Given the description of an element on the screen output the (x, y) to click on. 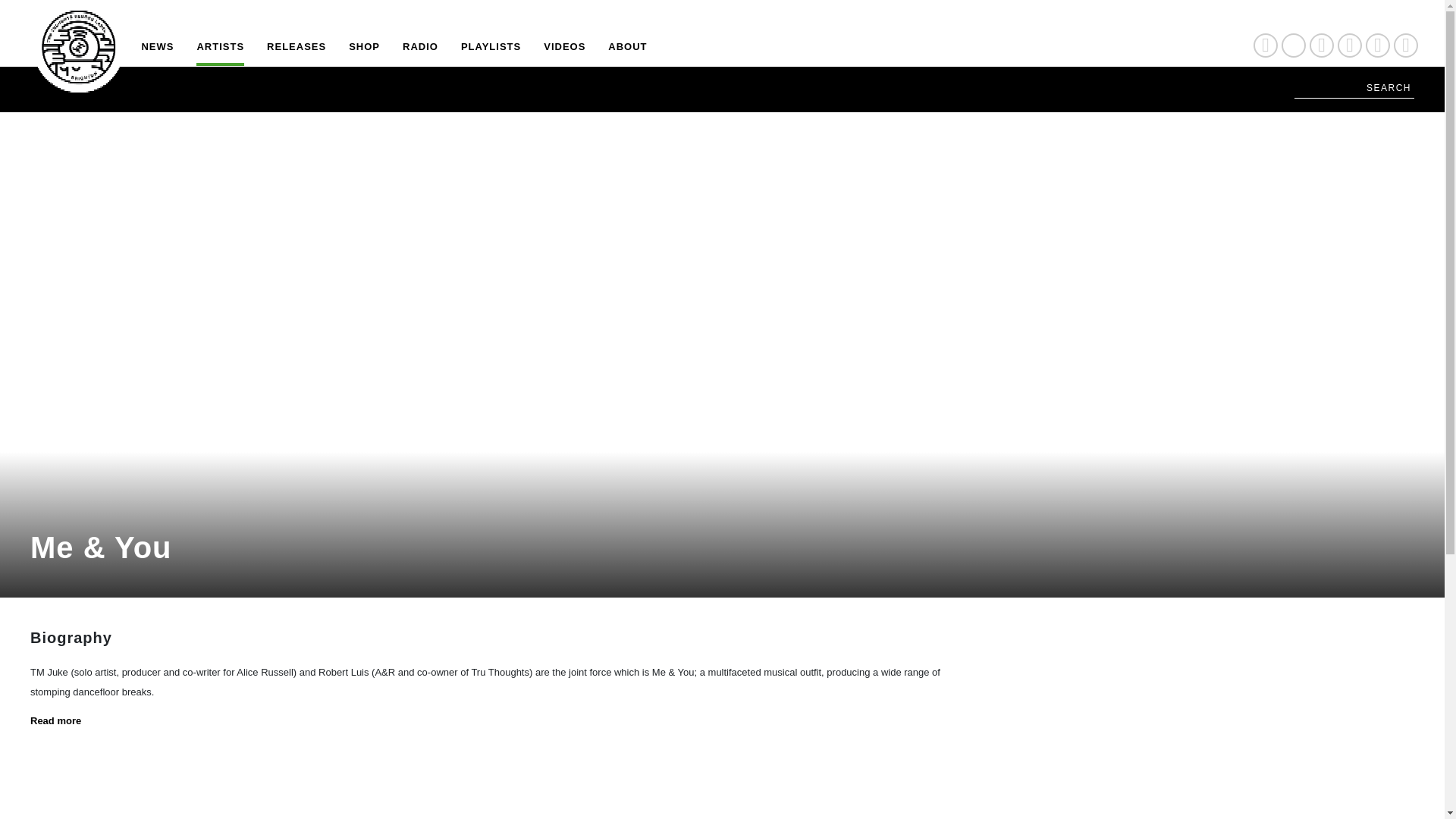
Search (1353, 87)
SHOP (364, 53)
instagram (1349, 45)
RELEASES (296, 53)
NEWS (157, 53)
Twitter (1293, 45)
YouTube (1320, 45)
Spotify (1377, 45)
RADIO (420, 53)
Apple Music (1405, 45)
